Given the description of an element on the screen output the (x, y) to click on. 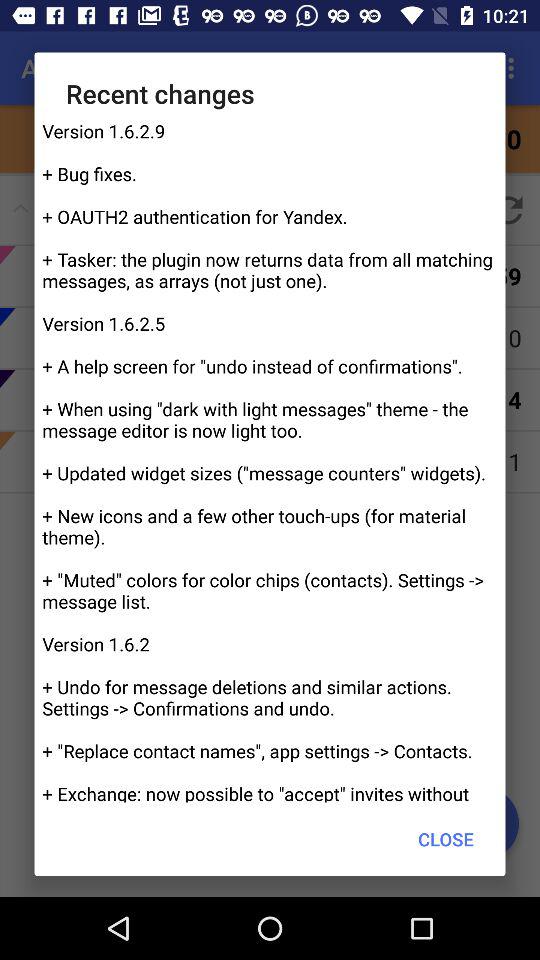
open the item below the version 1 6 icon (445, 838)
